Given the description of an element on the screen output the (x, y) to click on. 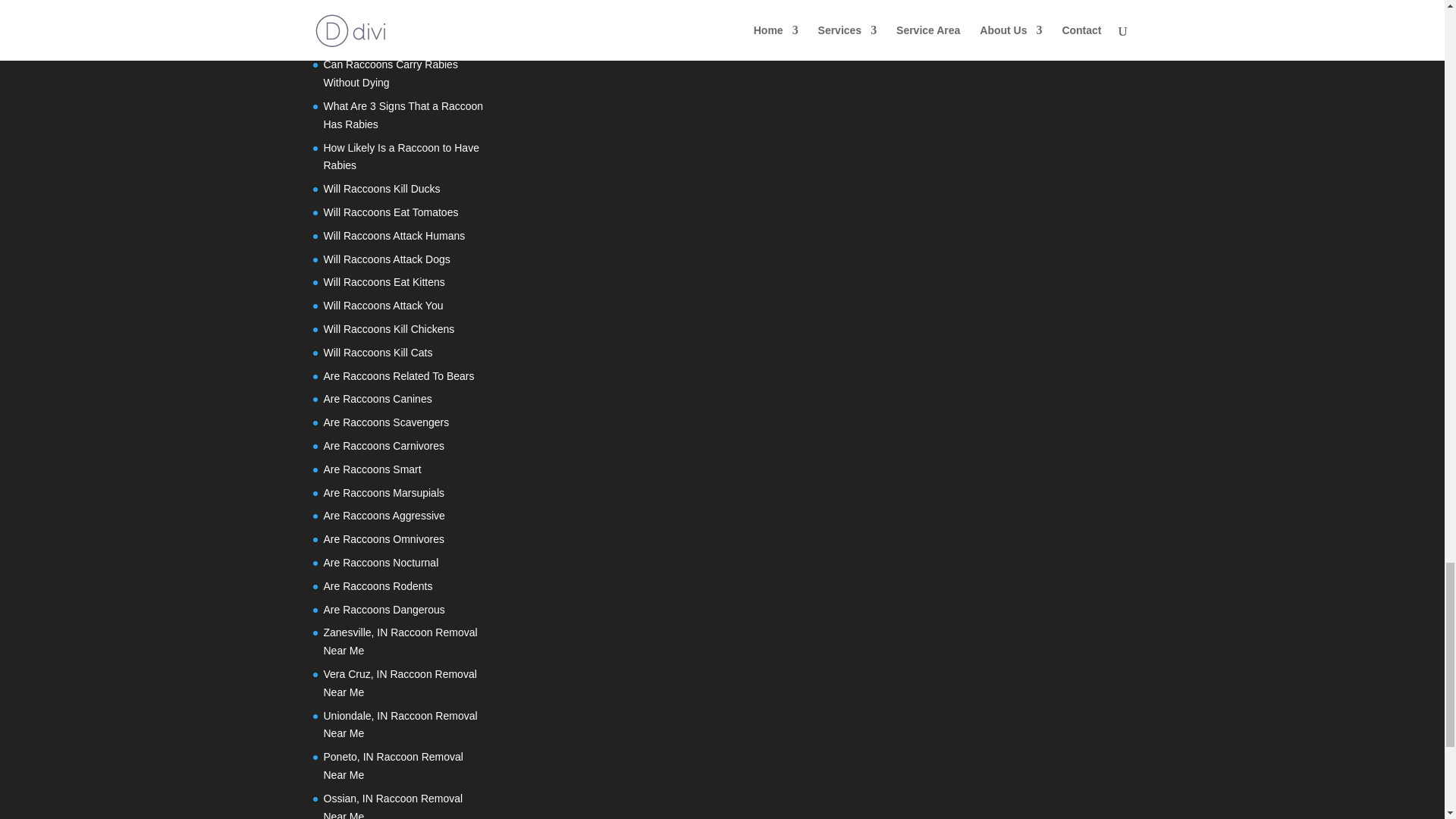
Will You Get Rabies if a Raccoon Bites You (401, 32)
Can You Survive a Rabid Raccoon Bite (382, 2)
Can Raccoons Carry Rabies Without Dying (390, 73)
